Given the description of an element on the screen output the (x, y) to click on. 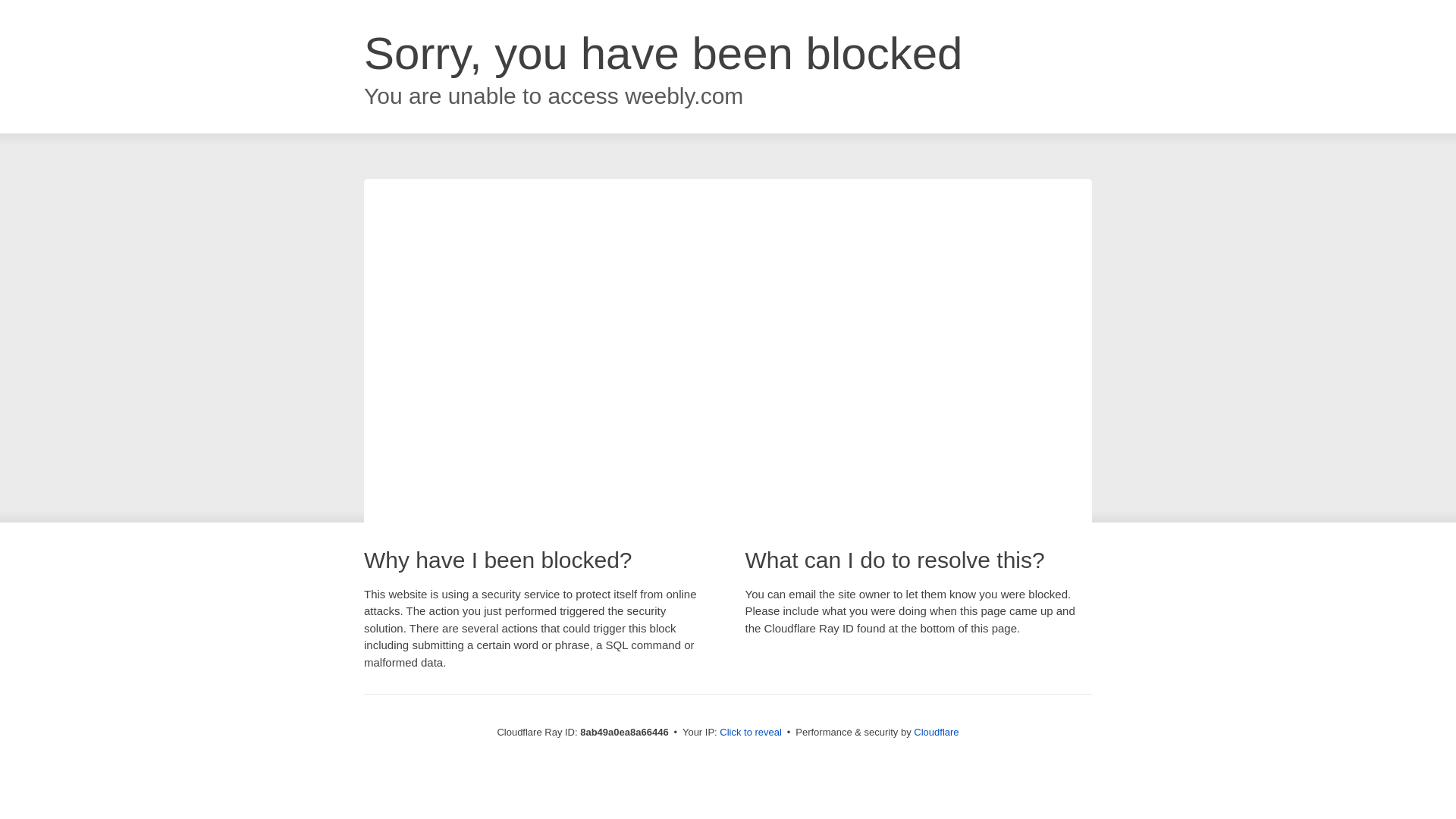
Cloudflare (936, 731)
Click to reveal (750, 732)
